Given the description of an element on the screen output the (x, y) to click on. 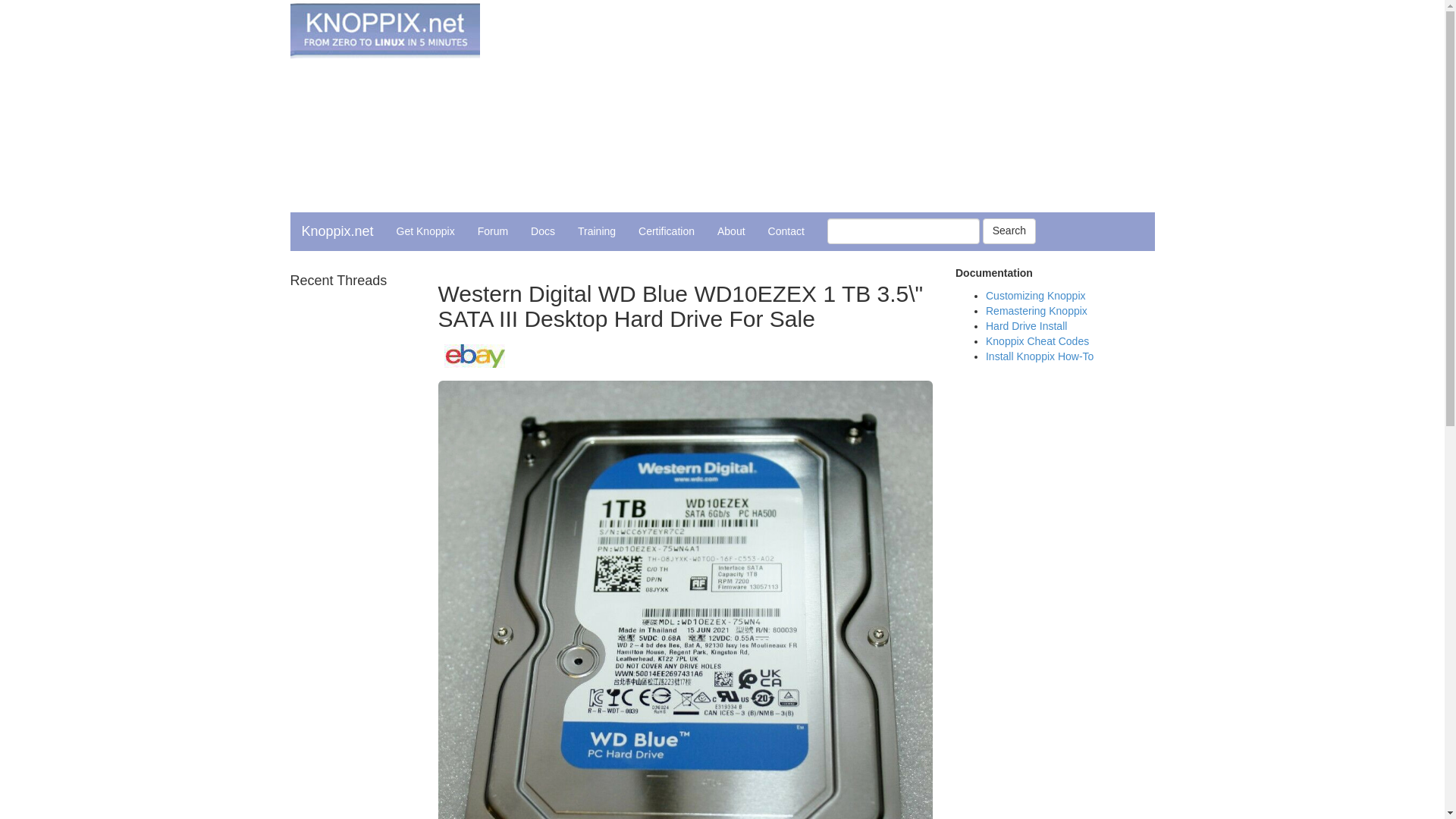
Advertisement (869, 106)
Install Knoppix How-To (1039, 356)
Knoppix Cheat Codes (1037, 340)
Get Knoppix (425, 231)
Contact (786, 231)
About (731, 231)
Remastering Knoppix (1036, 310)
Search (1008, 231)
Docs (542, 231)
Knoppix.net (336, 231)
Training (596, 231)
Forum (492, 231)
Certification (666, 231)
Customizing Knoppix (1035, 295)
Hard Drive Install (1026, 326)
